Given the description of an element on the screen output the (x, y) to click on. 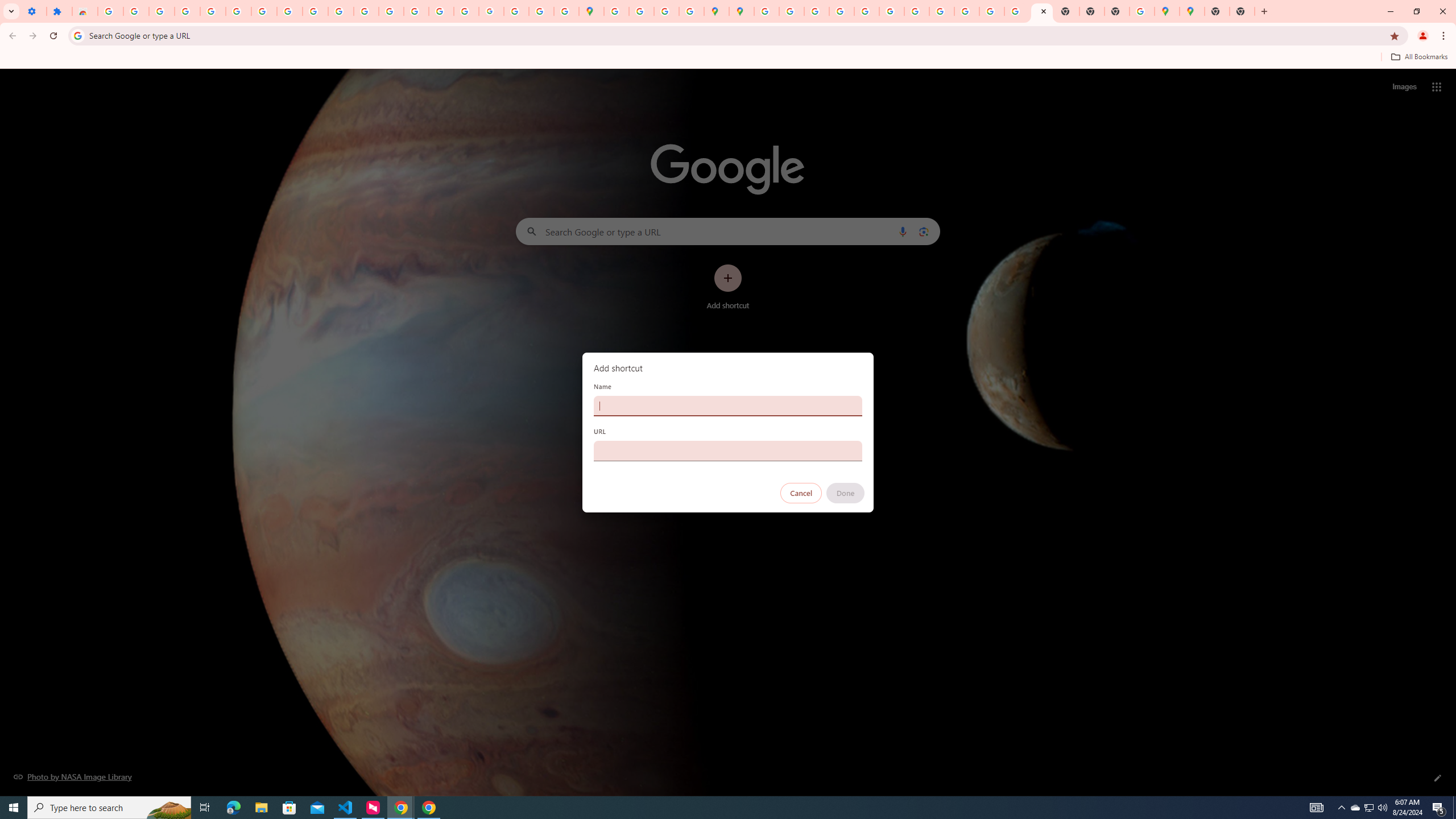
New Tab (1116, 11)
YouTube (289, 11)
Settings - On startup (34, 11)
Sign in - Google Accounts (110, 11)
Google Maps (1191, 11)
